Given the description of an element on the screen output the (x, y) to click on. 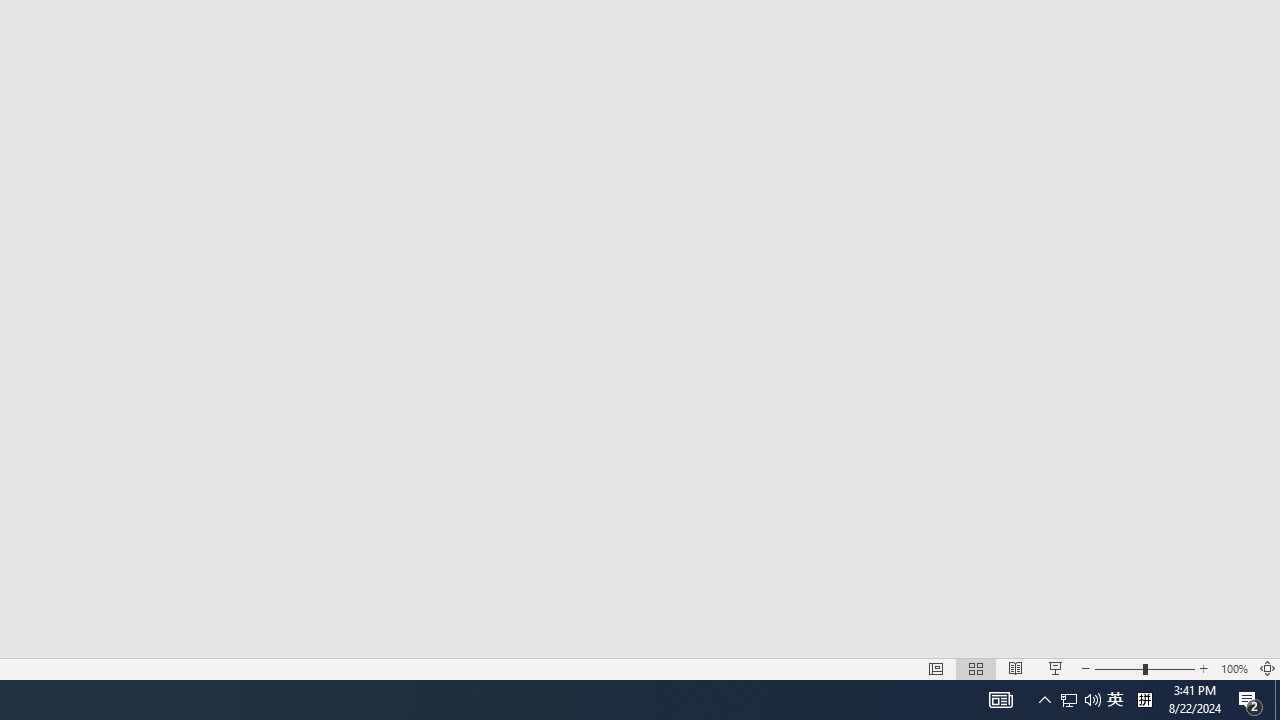
Zoom 100% (1234, 668)
